Given the description of an element on the screen output the (x, y) to click on. 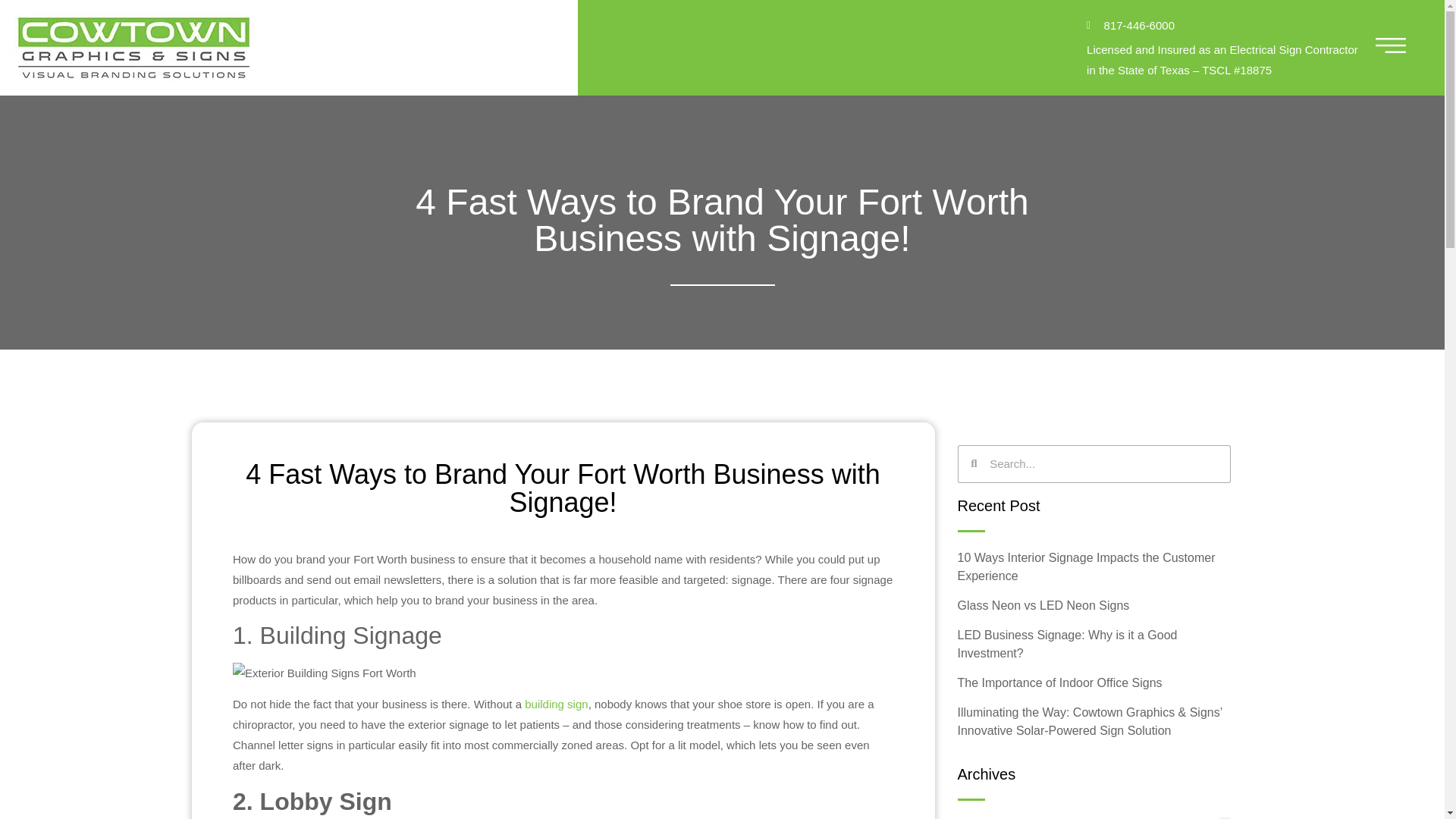
Glass Neon vs LED Neon Signs (1077, 604)
building sign (556, 703)
817-446-6000 (1222, 25)
10 Ways Interior Signage Impacts the Customer Experience (1123, 565)
LED Business Signage: Why is it a Good Investment? (1095, 643)
The Importance of Indoor Office Signs (1083, 682)
